Given the description of an element on the screen output the (x, y) to click on. 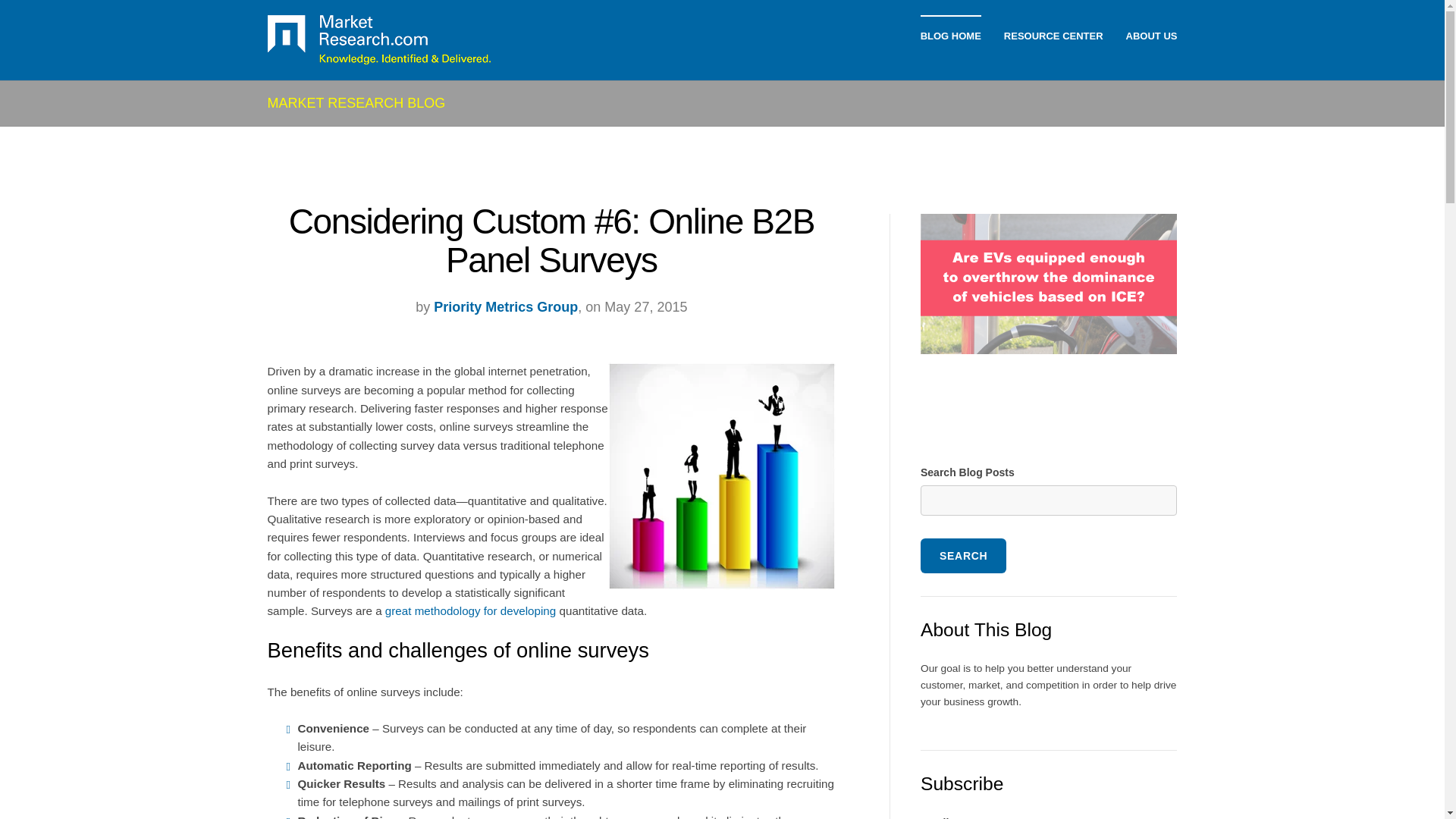
great methodology for developing (470, 610)
MarketResearch.com (378, 40)
ABOUT US (1151, 35)
MARKET RESEARCH BLOG (355, 102)
RESOURCE CENTER (1053, 35)
SEARCH (963, 555)
Priority Metrics Group (505, 306)
BLOG HOME (950, 35)
